Given the description of an element on the screen output the (x, y) to click on. 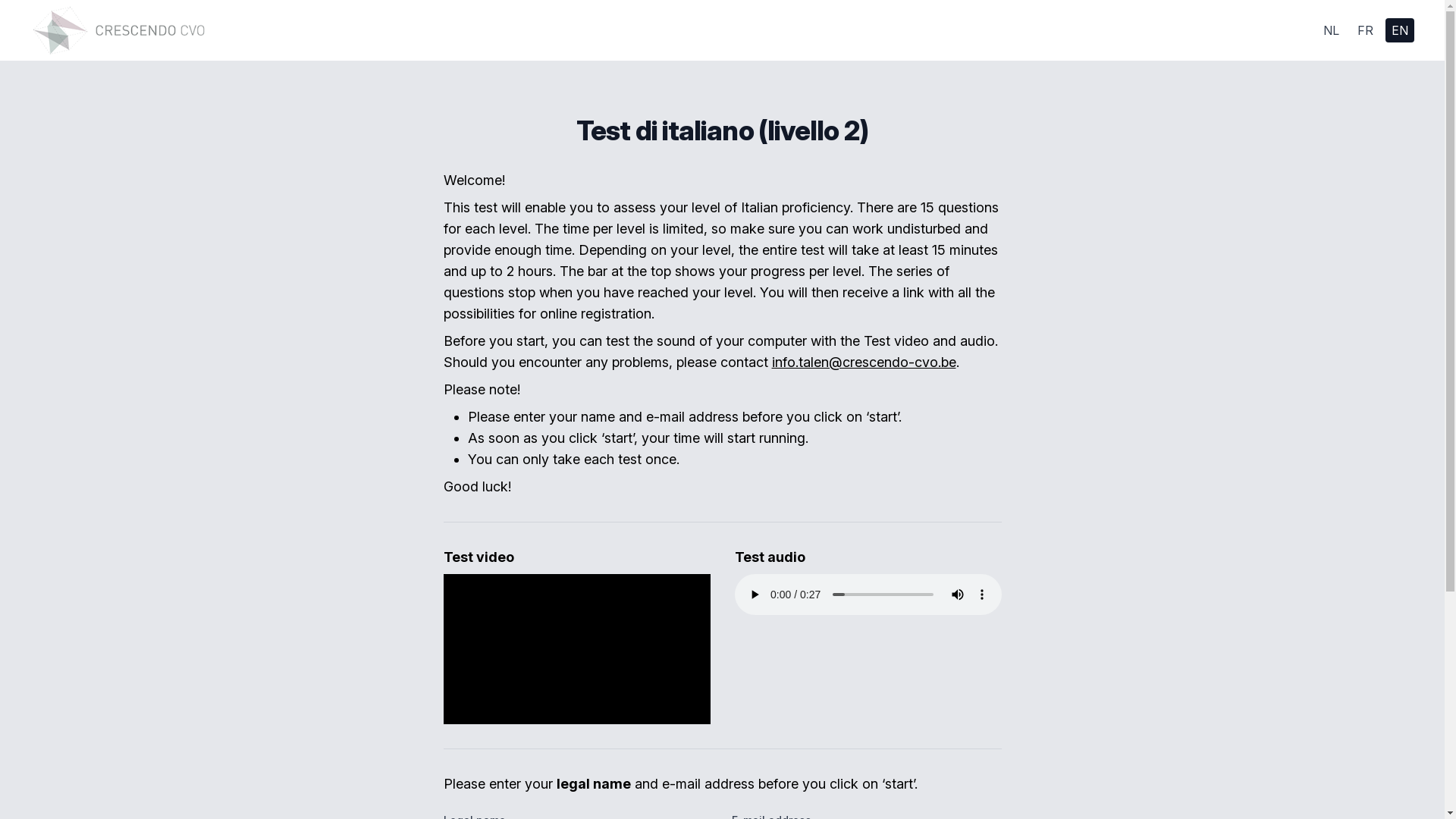
FR Element type: text (1365, 30)
NL Element type: text (1331, 30)
info.talen@crescendo-cvo.be Element type: text (863, 362)
